Given the description of an element on the screen output the (x, y) to click on. 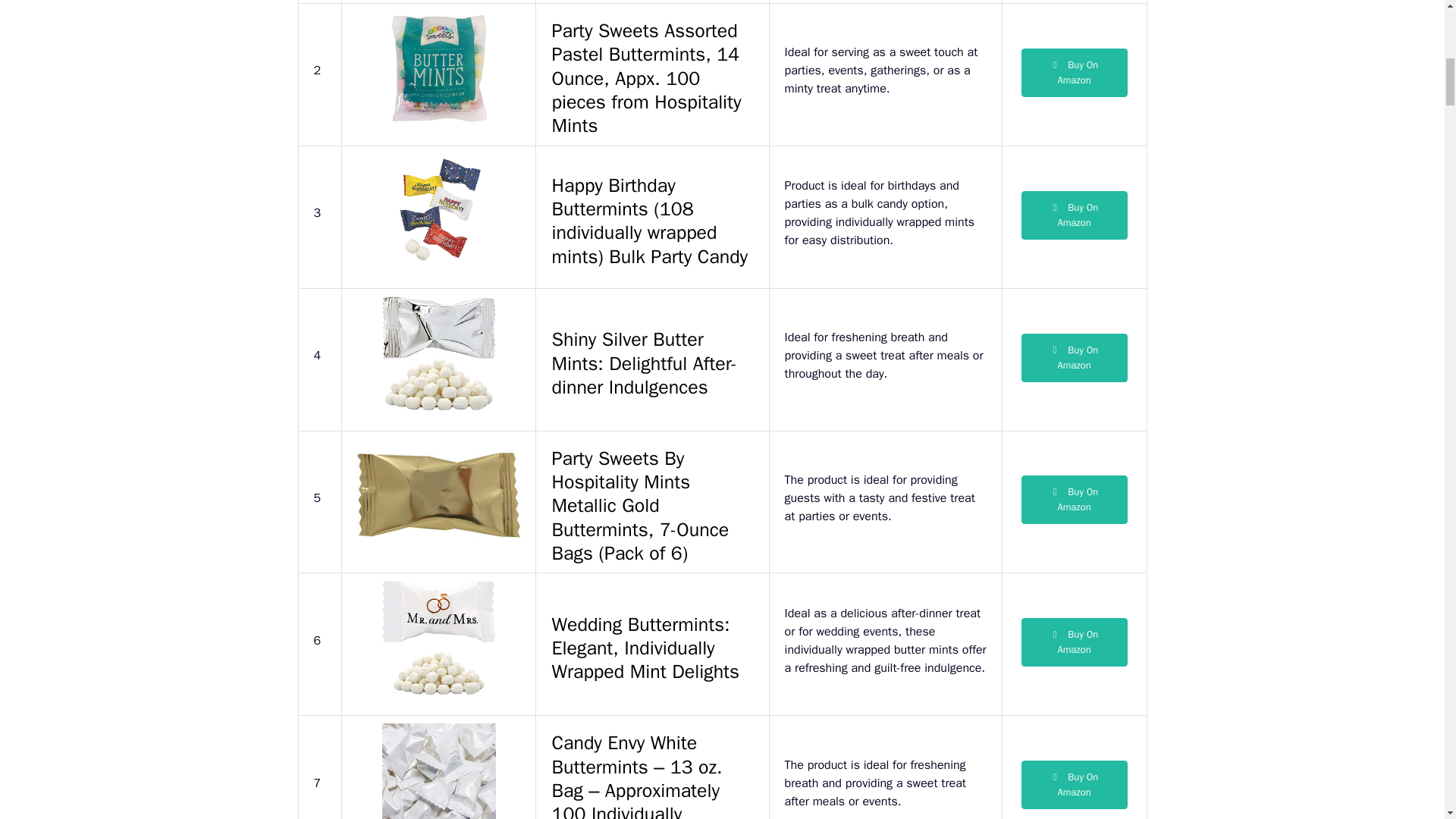
Buy On Amazon (1074, 642)
Buy On Amazon (1074, 72)
Check details from Amazon (1074, 784)
Buy On Amazon (1074, 784)
Check details from Amazon (1074, 499)
Check details from Amazon (1074, 214)
Check details from Amazon (1074, 642)
Buy On Amazon (1074, 214)
